Given the description of an element on the screen output the (x, y) to click on. 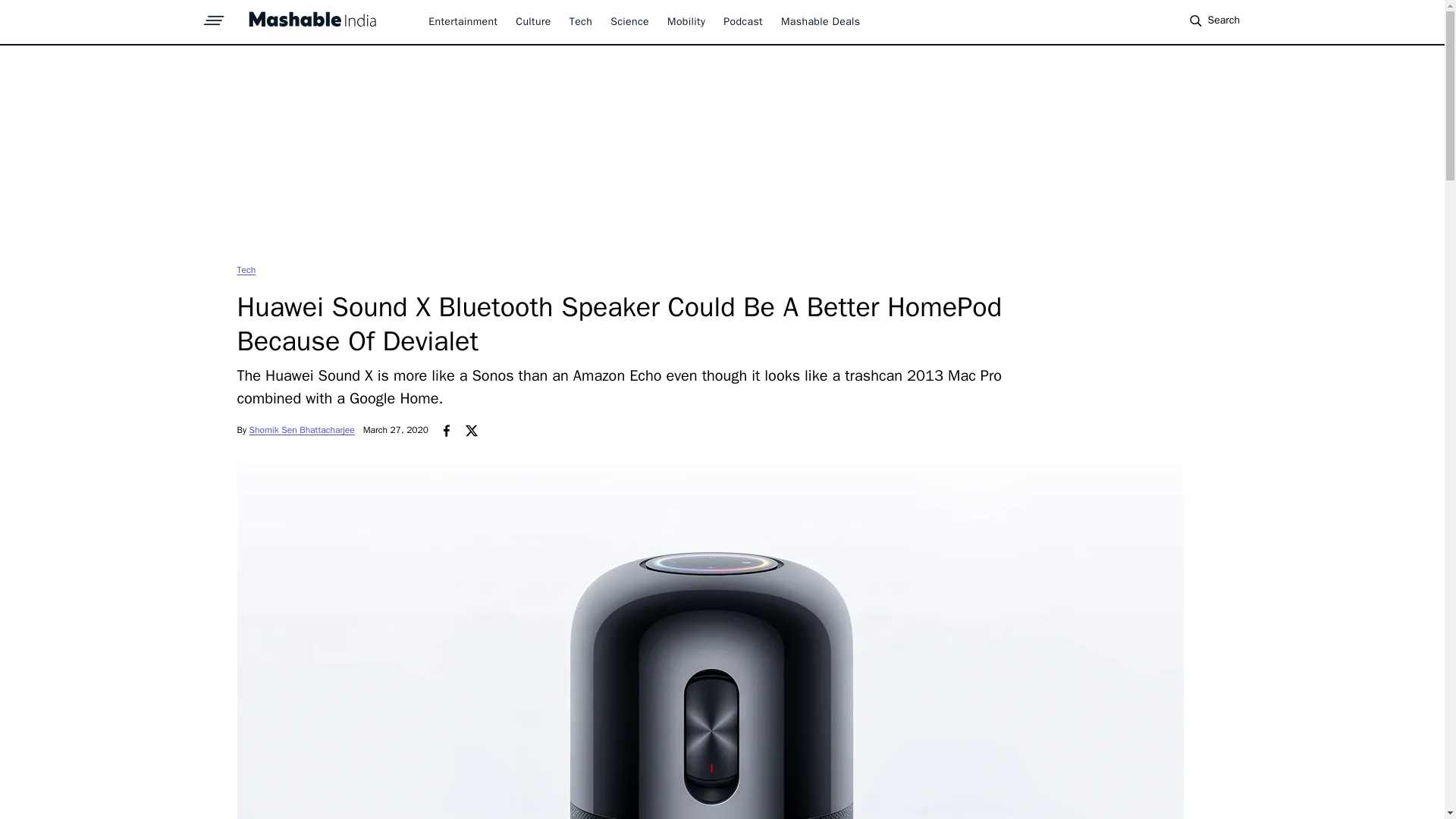
Science (629, 21)
Tech (580, 21)
Entertainment (462, 21)
Shomik Sen Bhattacharjee (301, 429)
Mobility (685, 21)
Mashable Deals (820, 21)
Tech (245, 269)
Tech (245, 269)
sprite-hamburger (213, 16)
Podcast (742, 21)
Culture (532, 21)
